Given the description of an element on the screen output the (x, y) to click on. 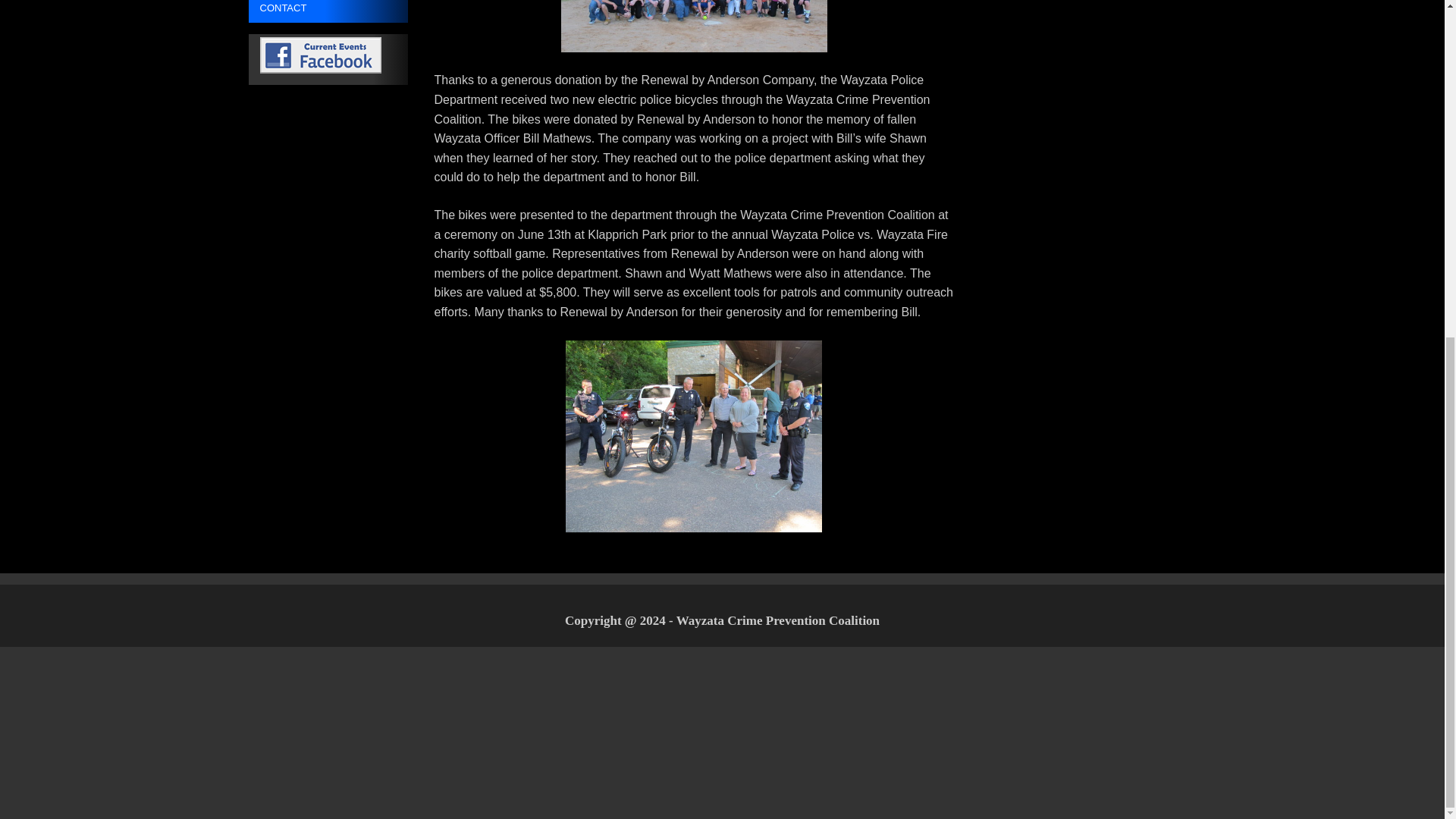
facebook (327, 59)
CONTACT (327, 11)
